Given the description of an element on the screen output the (x, y) to click on. 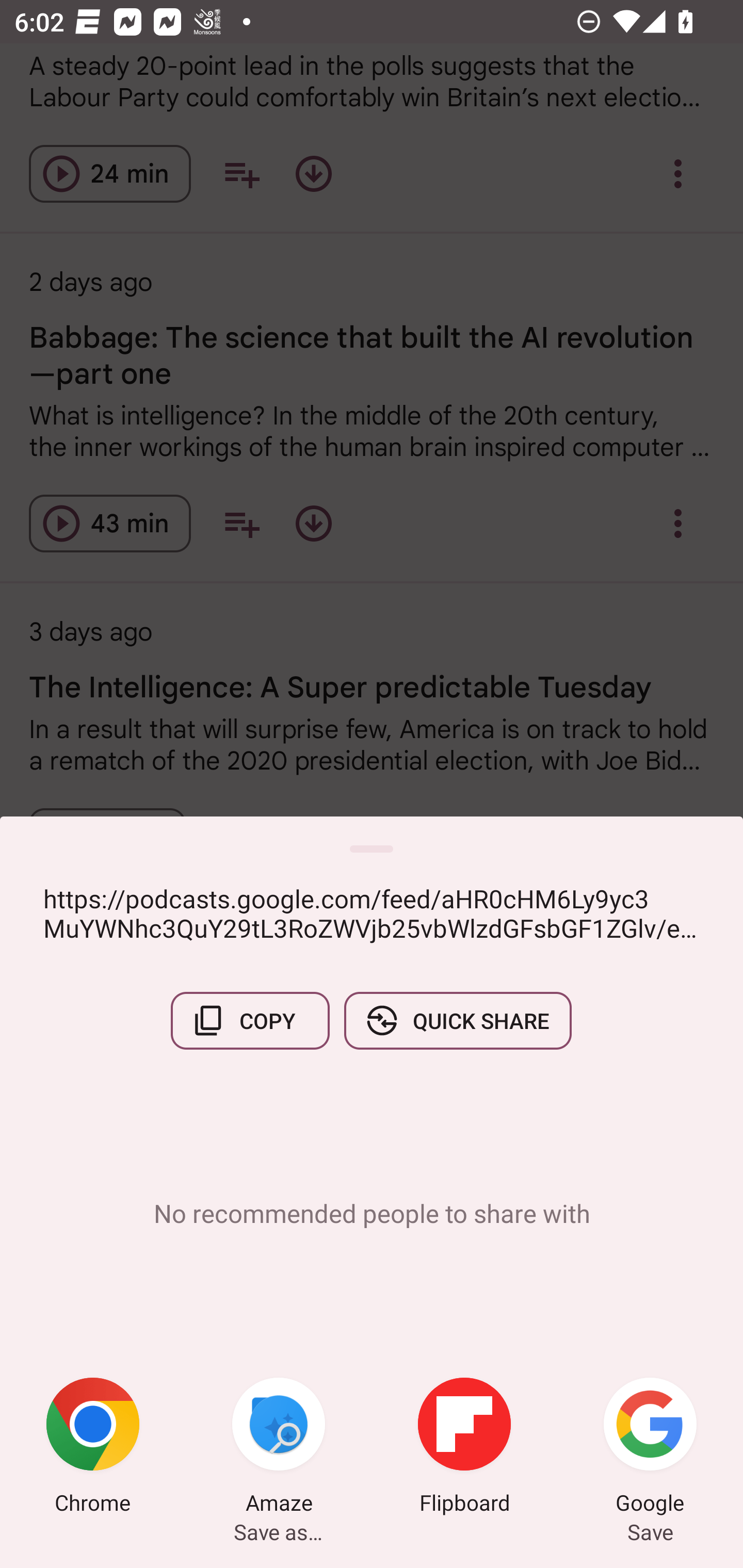
COPY (249, 1020)
QUICK SHARE (457, 1020)
Chrome (92, 1448)
Amaze Save as… (278, 1448)
Flipboard (464, 1448)
Google Save (650, 1448)
